Given the description of an element on the screen output the (x, y) to click on. 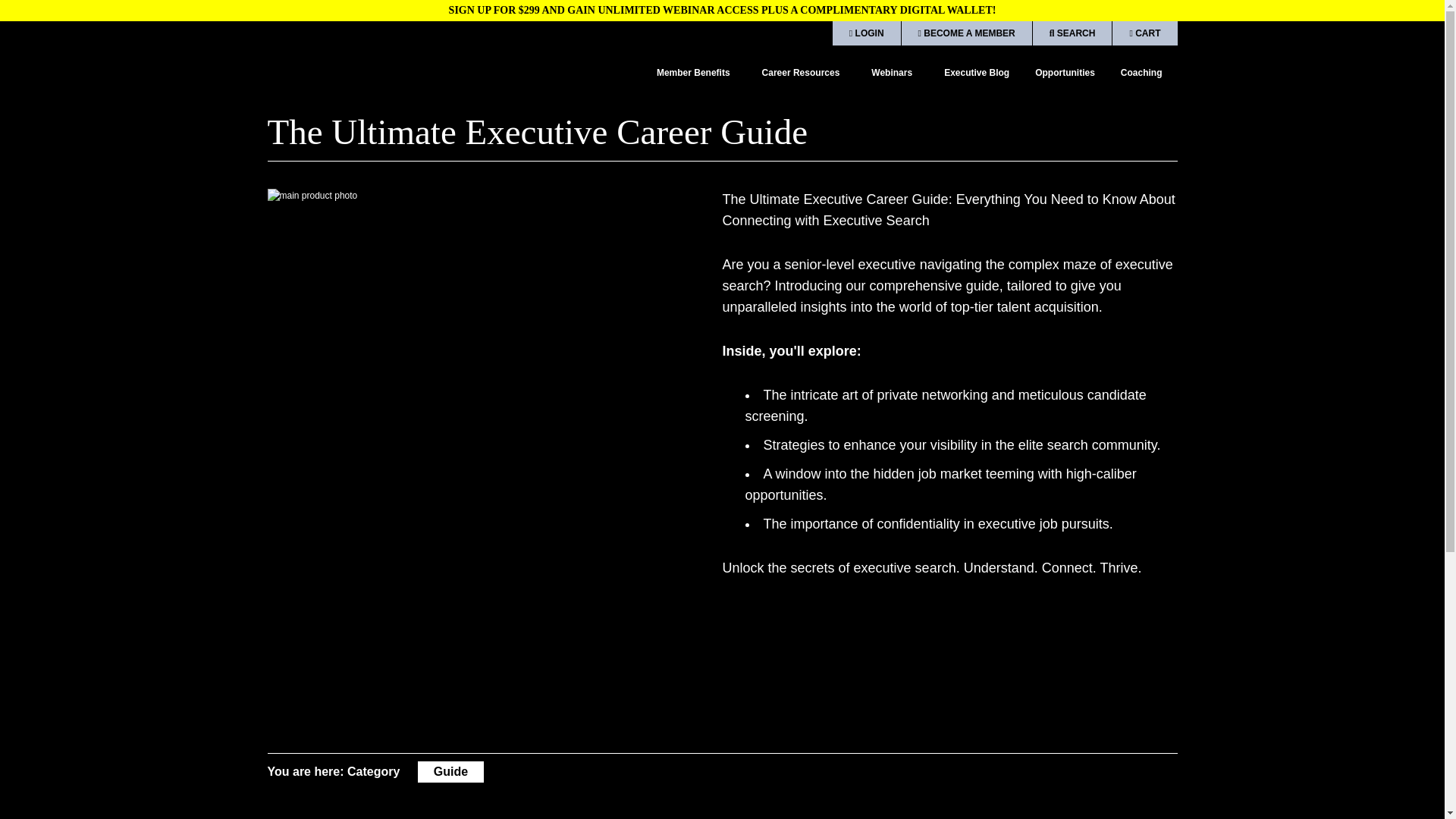
SEARCH (1072, 33)
Coaching (1142, 72)
CART (1144, 33)
Career Resources (804, 72)
Member Benefits (696, 72)
Opportunities (1064, 72)
BECOME A MEMBER (966, 33)
LOGIN (866, 33)
Executive Blog (975, 72)
Webinars (894, 72)
